Given the description of an element on the screen output the (x, y) to click on. 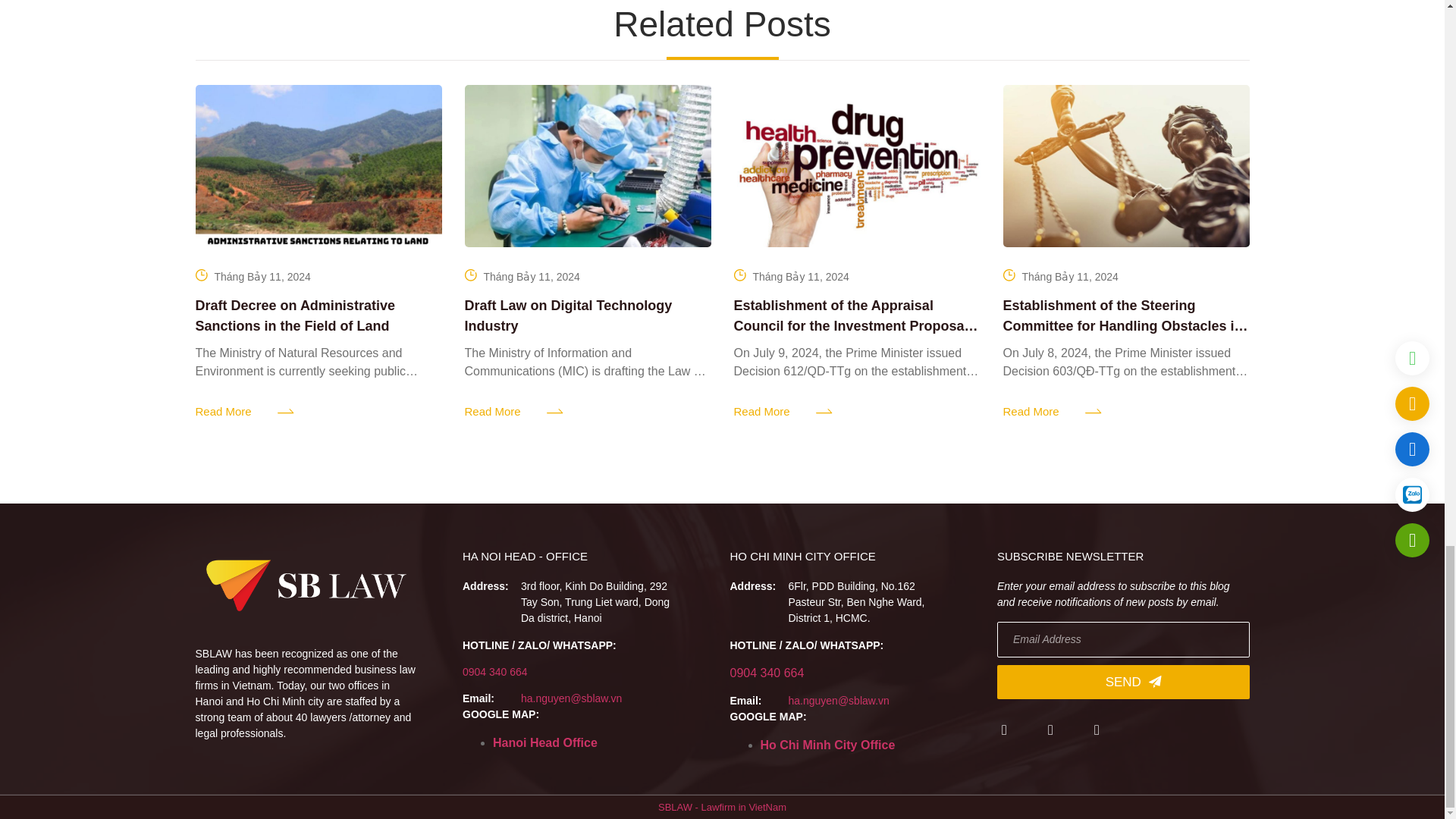
Send (1123, 682)
